Given the description of an element on the screen output the (x, y) to click on. 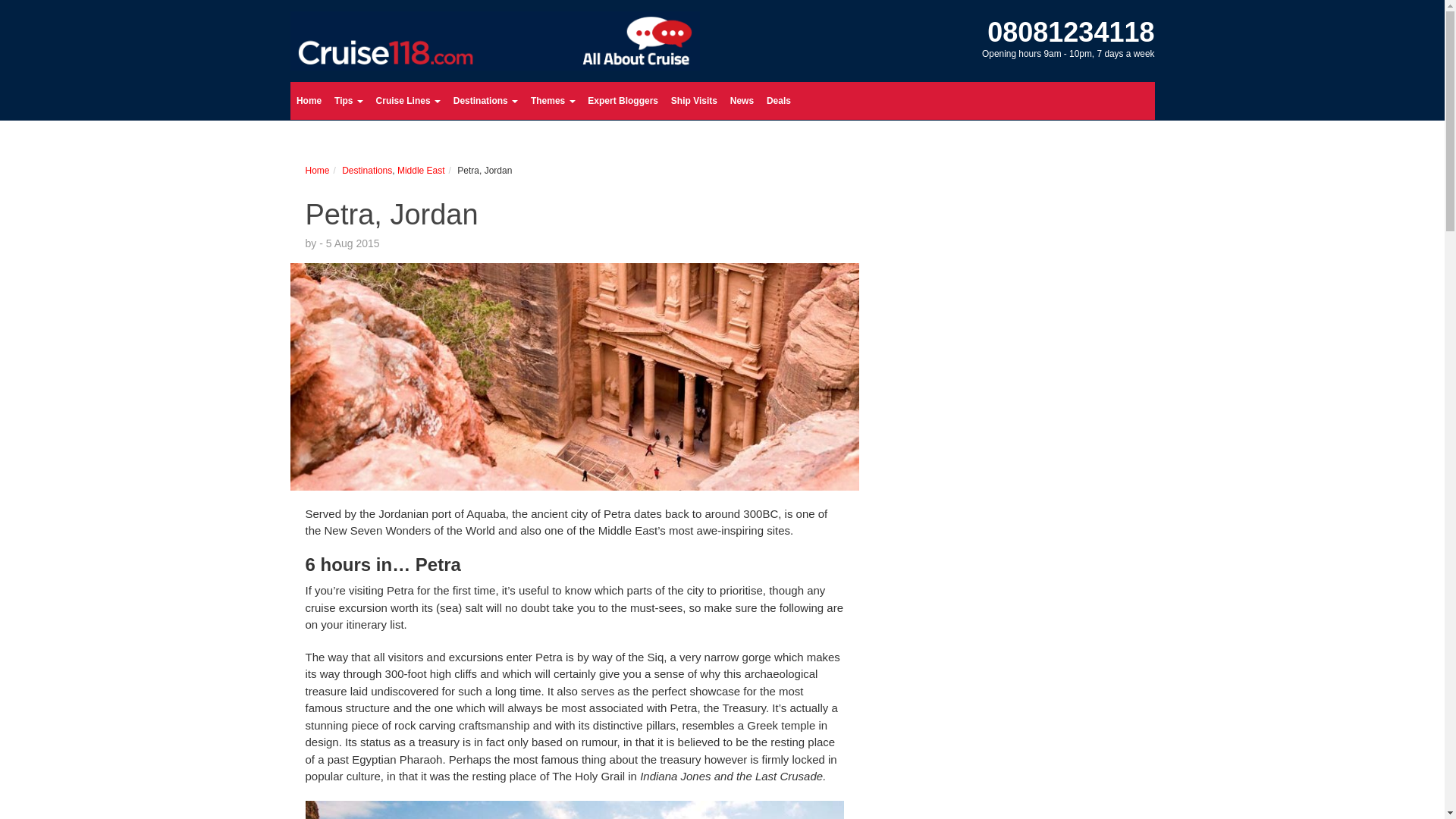
Home (308, 100)
Tips (349, 100)
Cruise Lines (407, 100)
Cruise Lines (407, 100)
Home (308, 100)
Destinations (485, 100)
Tips (349, 100)
